Given the description of an element on the screen output the (x, y) to click on. 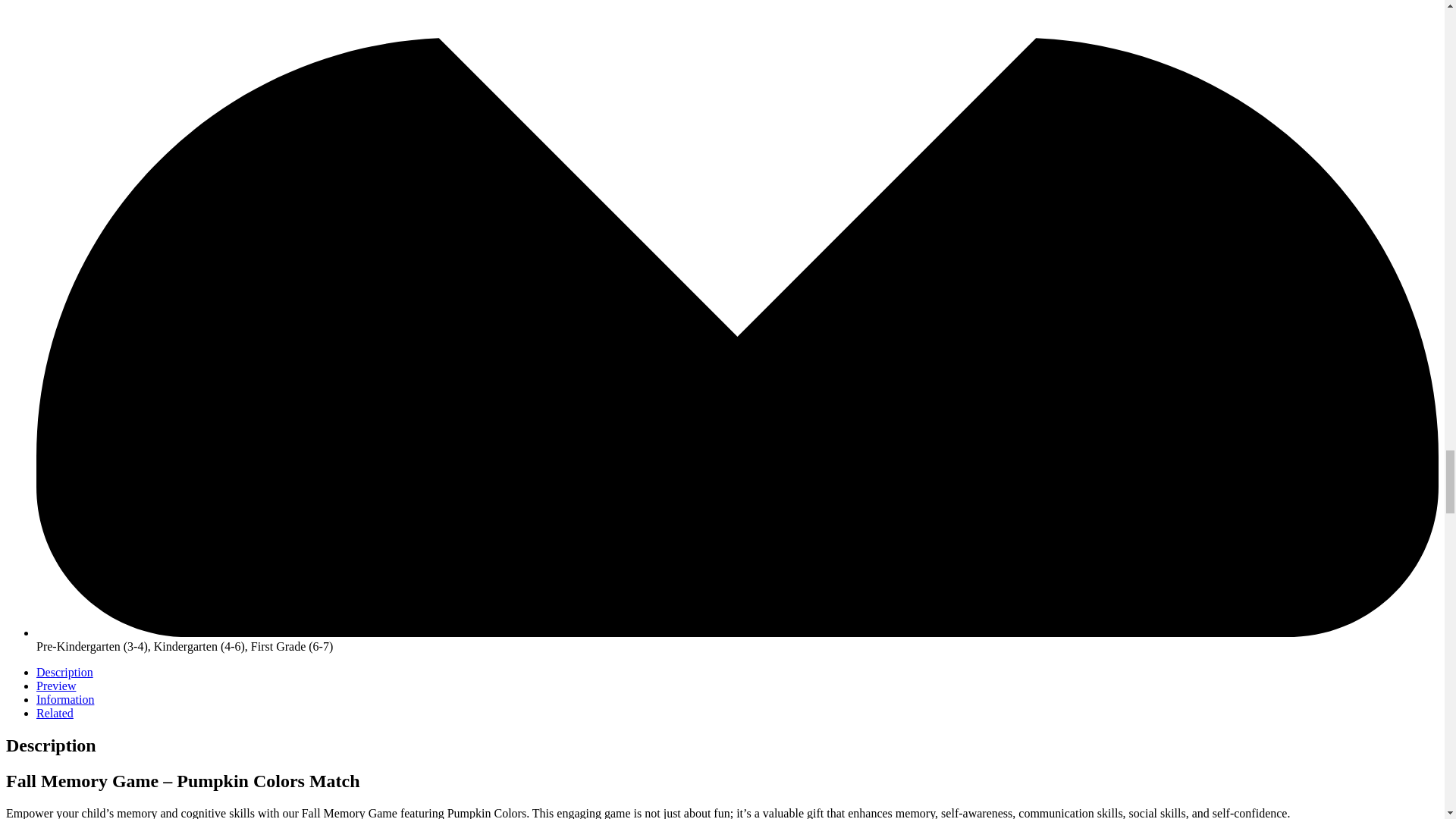
Preview (55, 685)
Description (64, 671)
Information (65, 698)
Related (55, 712)
